Given the description of an element on the screen output the (x, y) to click on. 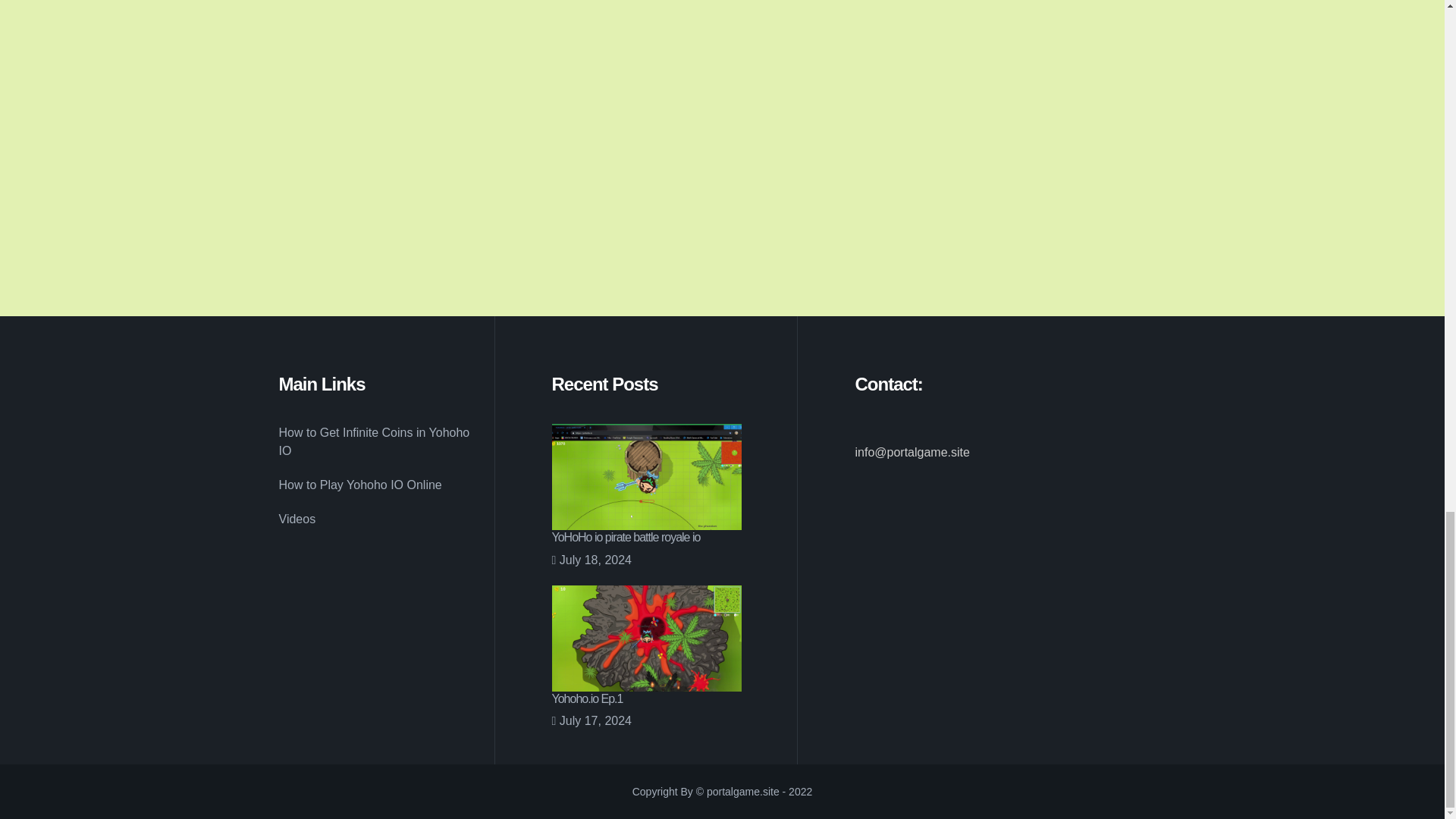
How to Play Yohoho IO Online (360, 484)
Yohoho.io Ep.1 (587, 698)
Videos (297, 519)
How to Get Infinite Coins in Yohoho IO (381, 442)
YoHoHo io pirate battle royale io (625, 536)
